Given the description of an element on the screen output the (x, y) to click on. 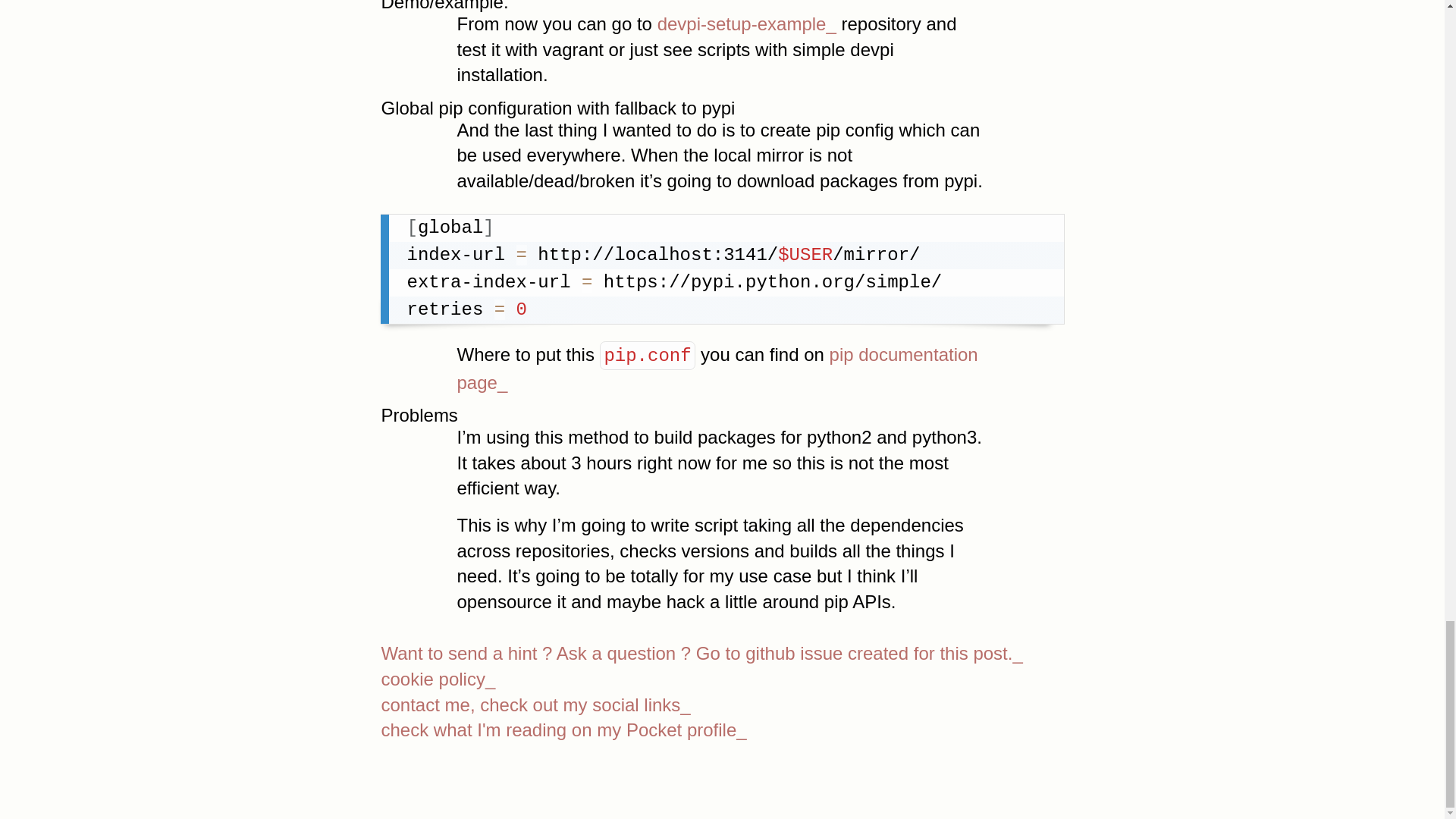
pip documentation page (716, 368)
cookie policy (721, 679)
devpi-setup-example (746, 23)
check what I'm reading on my Pocket profile (721, 729)
contact me, check out my social links (721, 705)
